Given the description of an element on the screen output the (x, y) to click on. 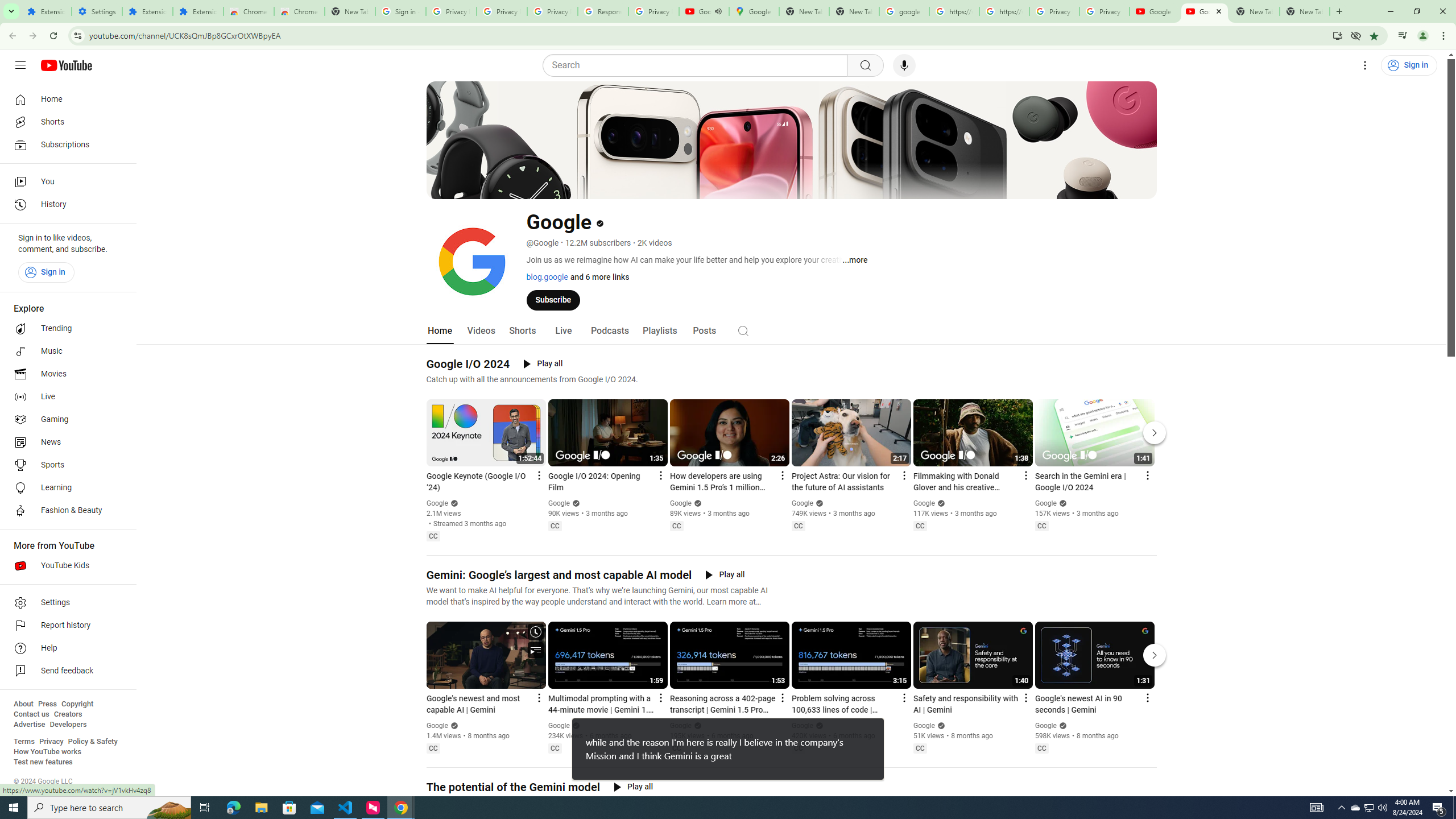
Google - YouTube (1204, 11)
News (64, 441)
Advertise (29, 724)
Fashion & Beauty (64, 510)
Sign in - Google Accounts (399, 11)
New Tab (1304, 11)
Press (46, 703)
